Given the description of an element on the screen output the (x, y) to click on. 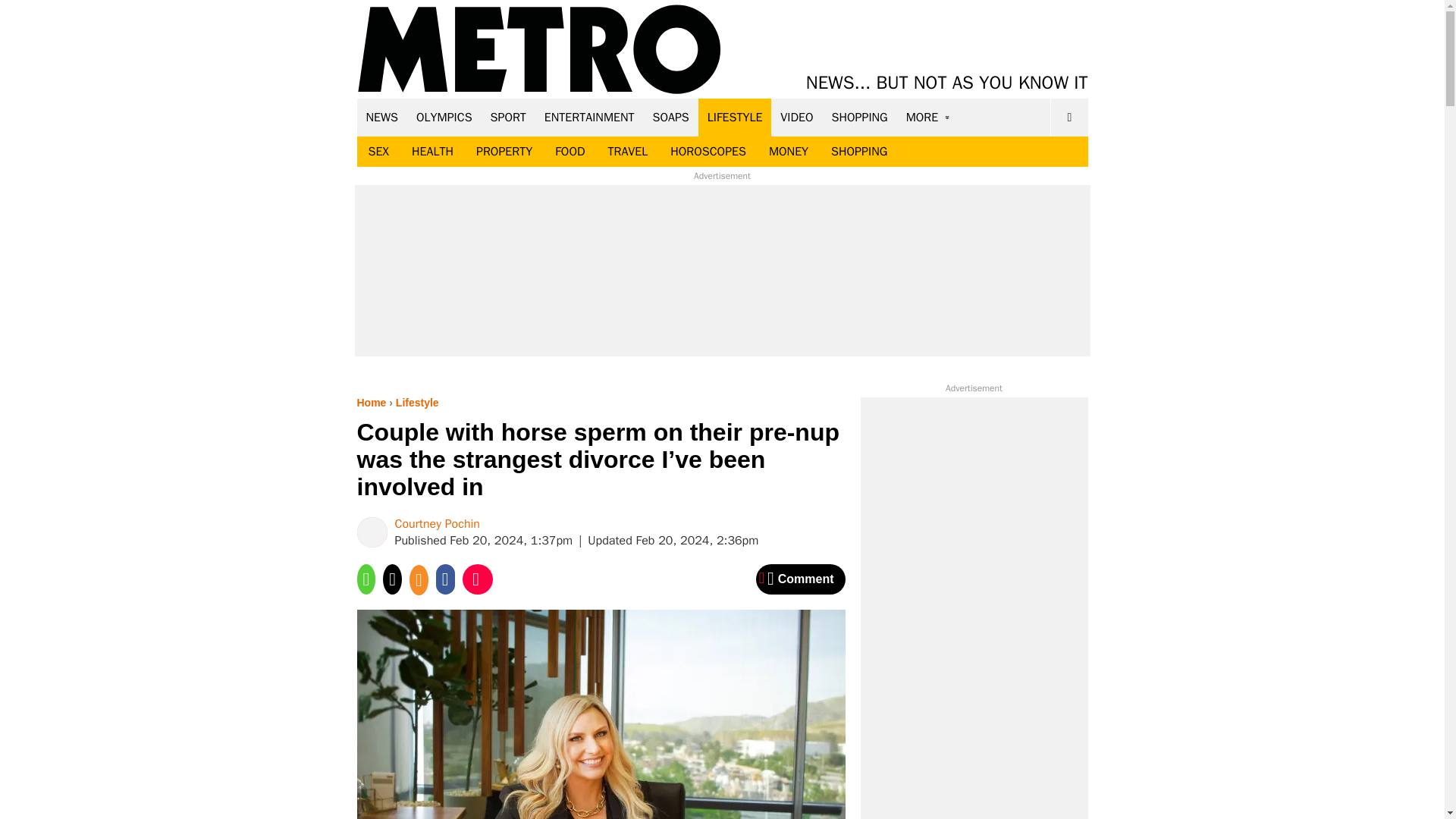
OLYMPICS (444, 117)
PROPERTY (503, 151)
LIFESTYLE (734, 117)
Metro (539, 50)
HEALTH (432, 151)
ENTERTAINMENT (589, 117)
SEX (377, 151)
NEWS (381, 117)
SPORT (508, 117)
SOAPS (670, 117)
